Given the description of an element on the screen output the (x, y) to click on. 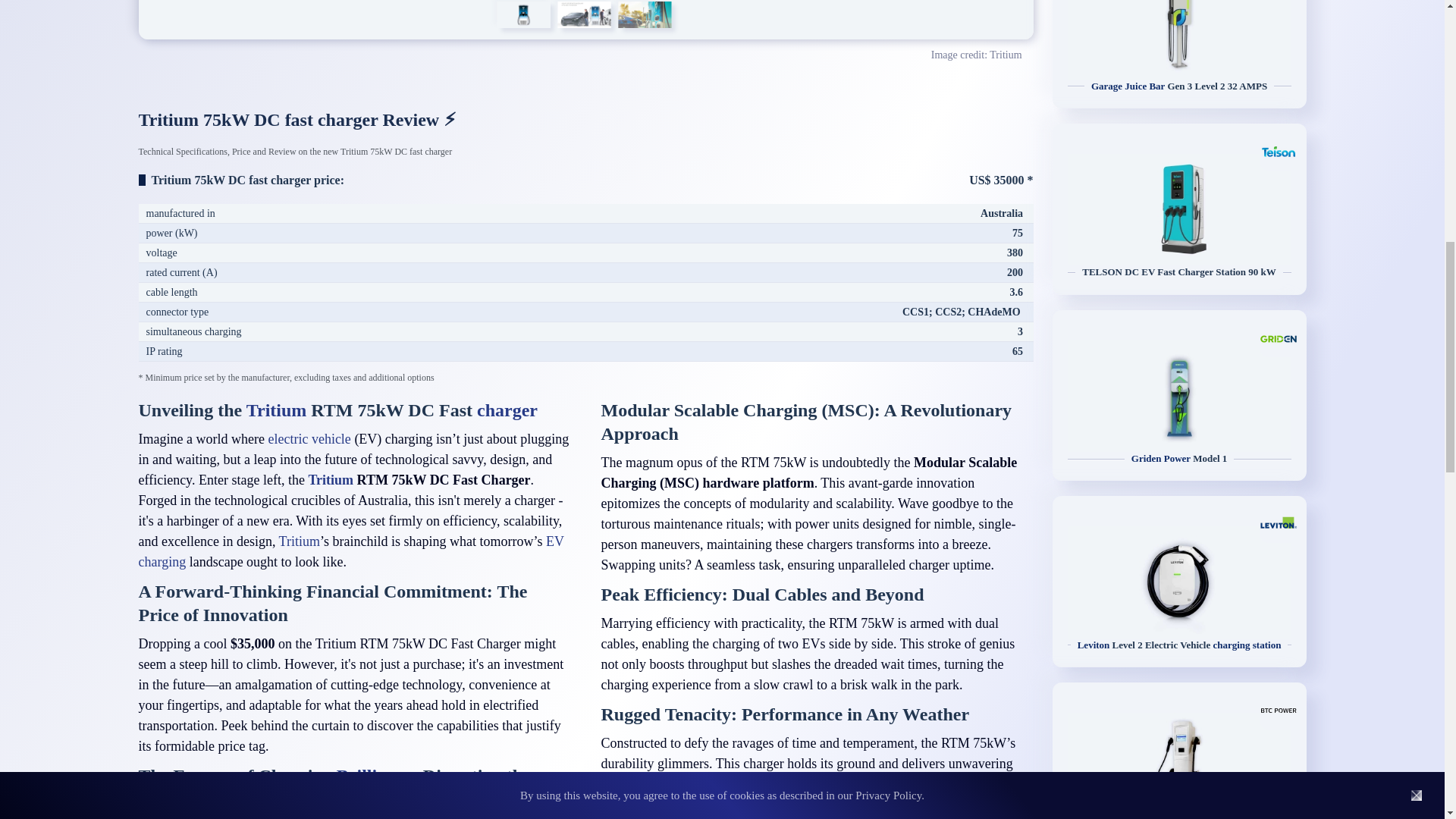
Tritium Company (276, 410)
Charging Stations Database (507, 410)
Tritium Company (330, 479)
Electric Vehicle Database (308, 438)
